Given the description of an element on the screen output the (x, y) to click on. 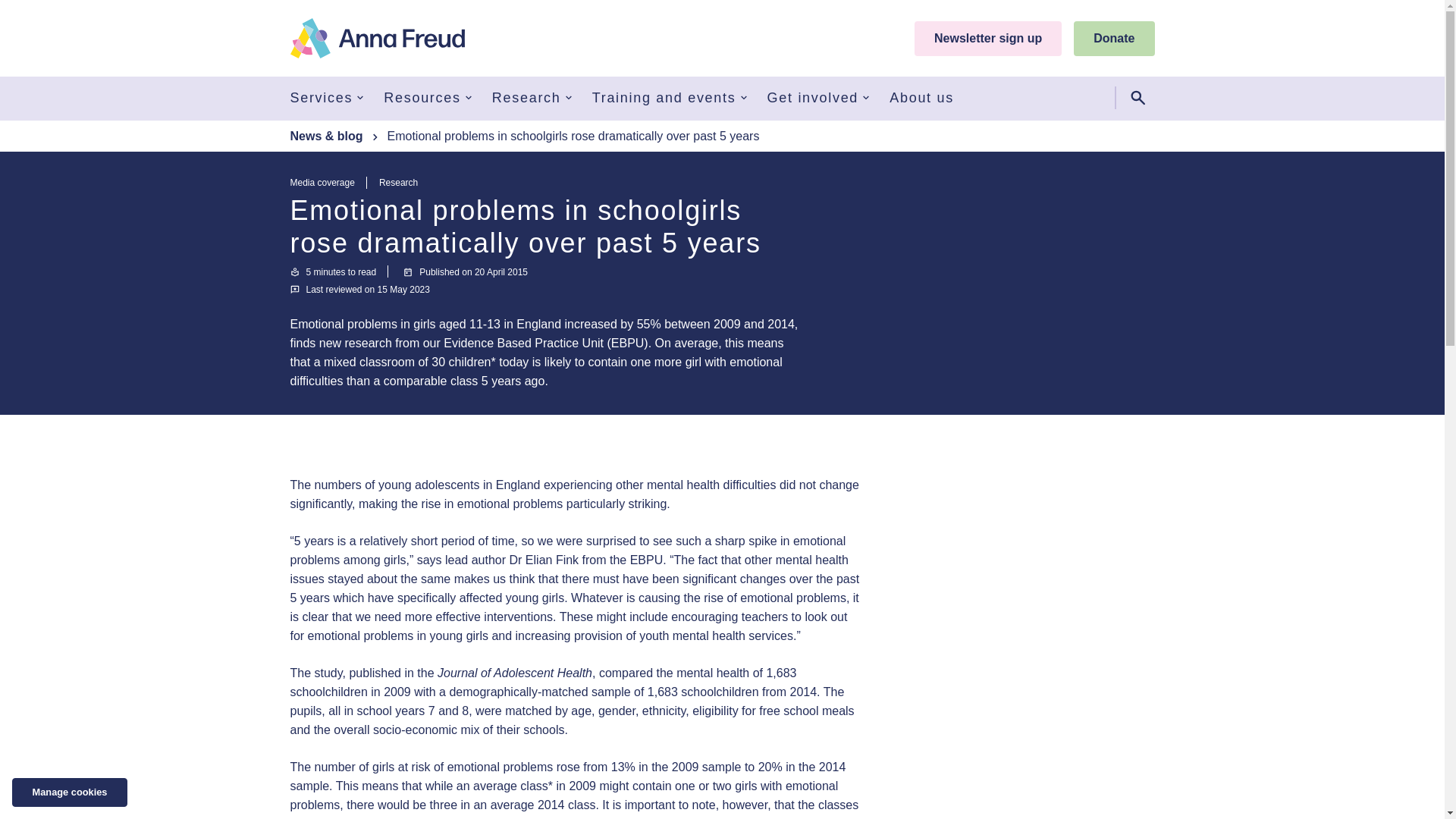
Services (327, 97)
Anna Freud (376, 38)
Manage cookies (69, 792)
Resources (429, 97)
Research (532, 97)
Donate (1114, 38)
Newsletter sign up (987, 38)
